Given the description of an element on the screen output the (x, y) to click on. 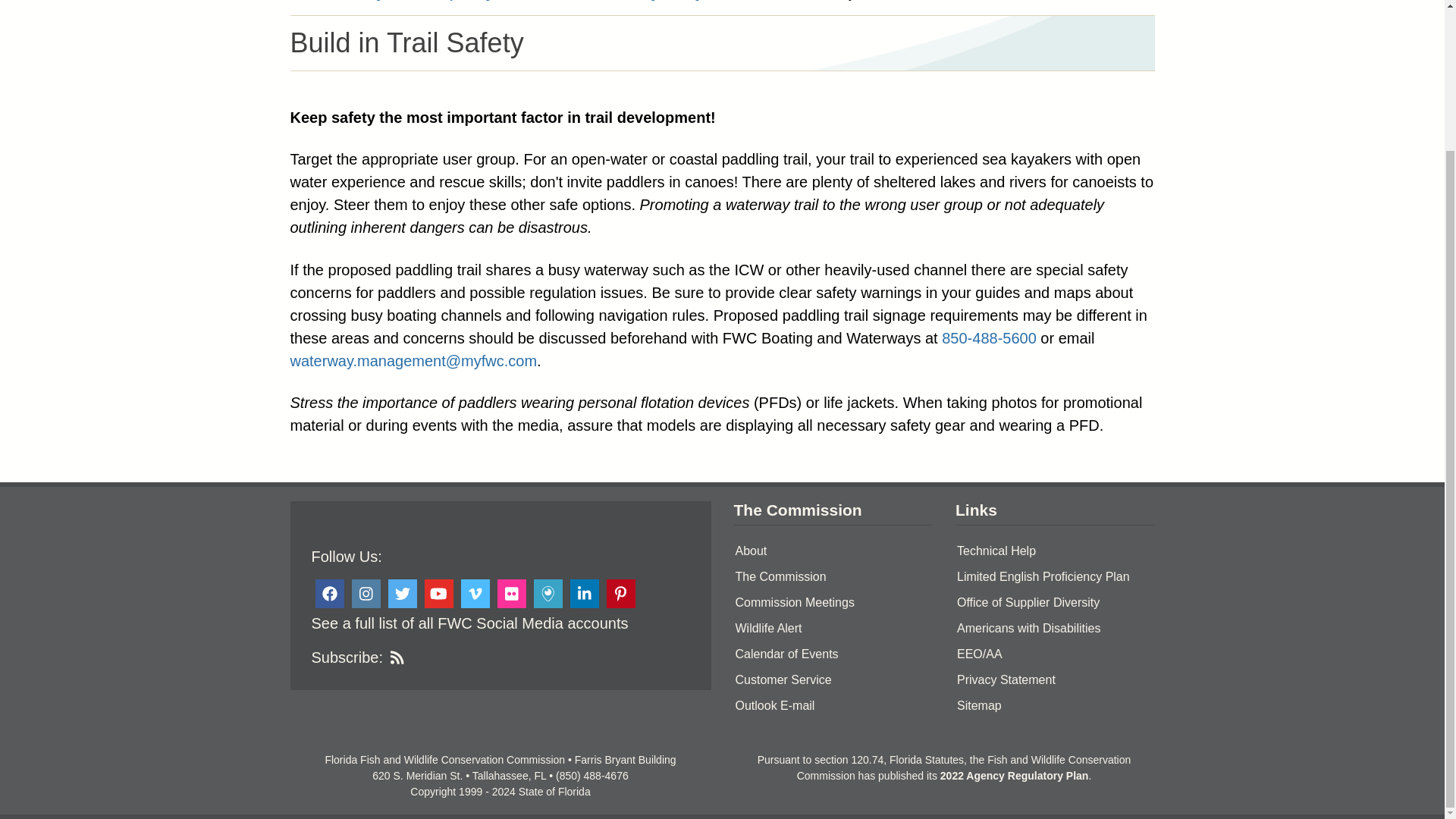
2022 Regulatory Plan (1014, 775)
